Given the description of an element on the screen output the (x, y) to click on. 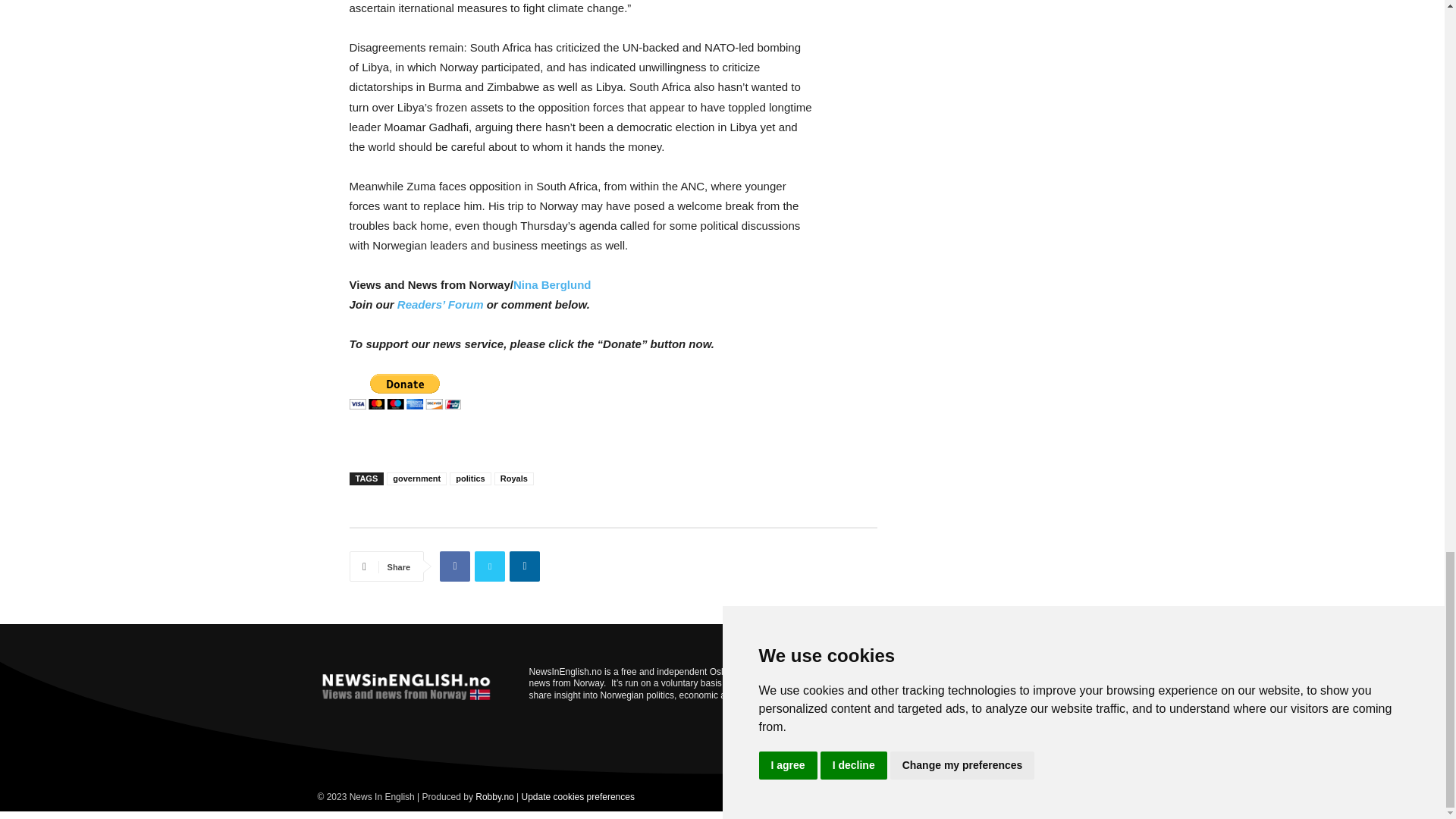
Linkedin (524, 566)
Facebook (454, 566)
Twitter (489, 566)
